Given the description of an element on the screen output the (x, y) to click on. 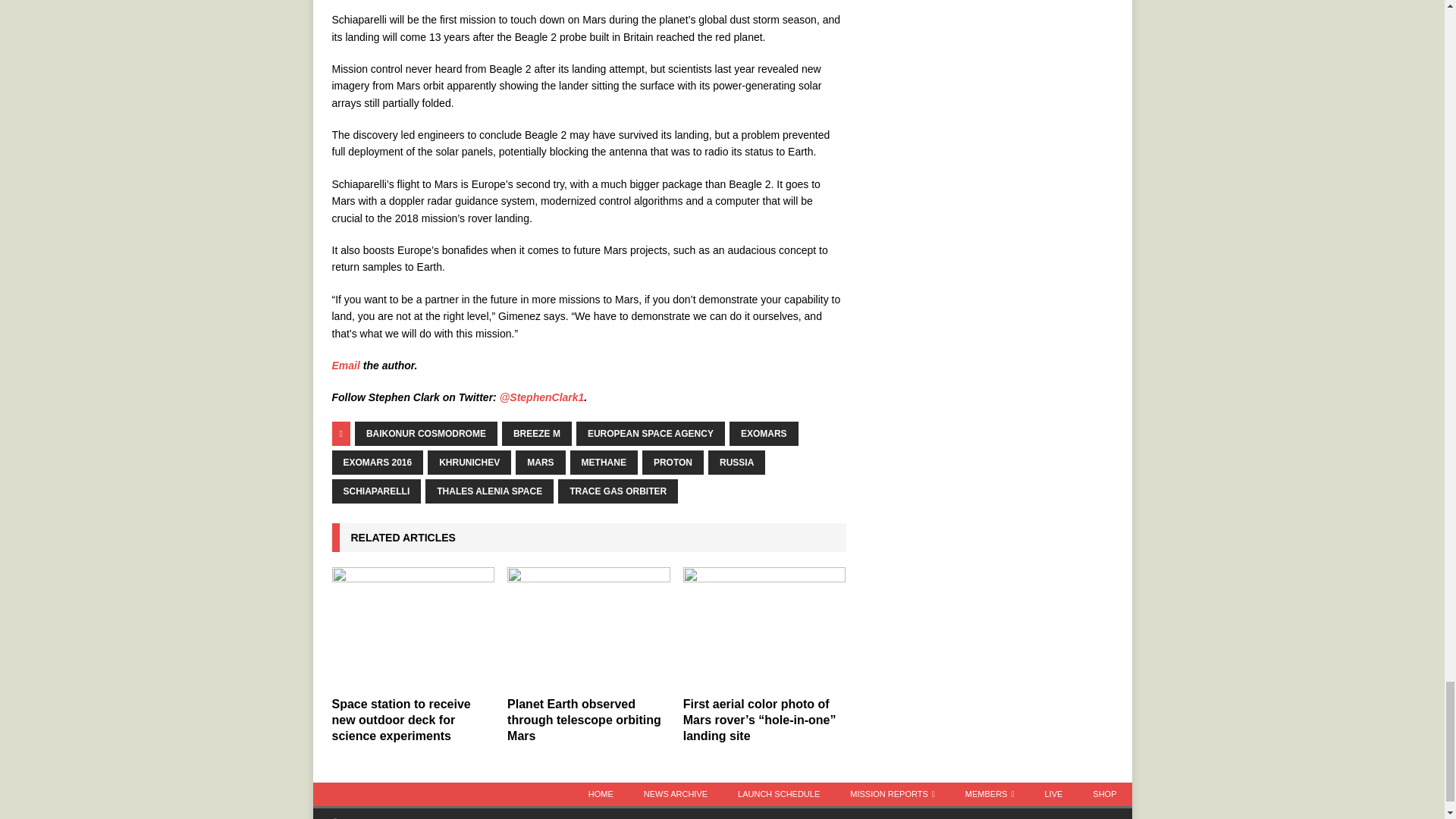
MARS (539, 462)
BAIKONUR COSMODROME (426, 433)
METHANE (603, 462)
Planet Earth observed through telescope orbiting Mars (583, 719)
BREEZE M (537, 433)
Email (345, 365)
Planet Earth observed through telescope orbiting Mars (587, 628)
EXOMARS 2016 (377, 462)
KHRUNICHEV (469, 462)
EXOMARS (763, 433)
EUROPEAN SPACE AGENCY (650, 433)
